Given the description of an element on the screen output the (x, y) to click on. 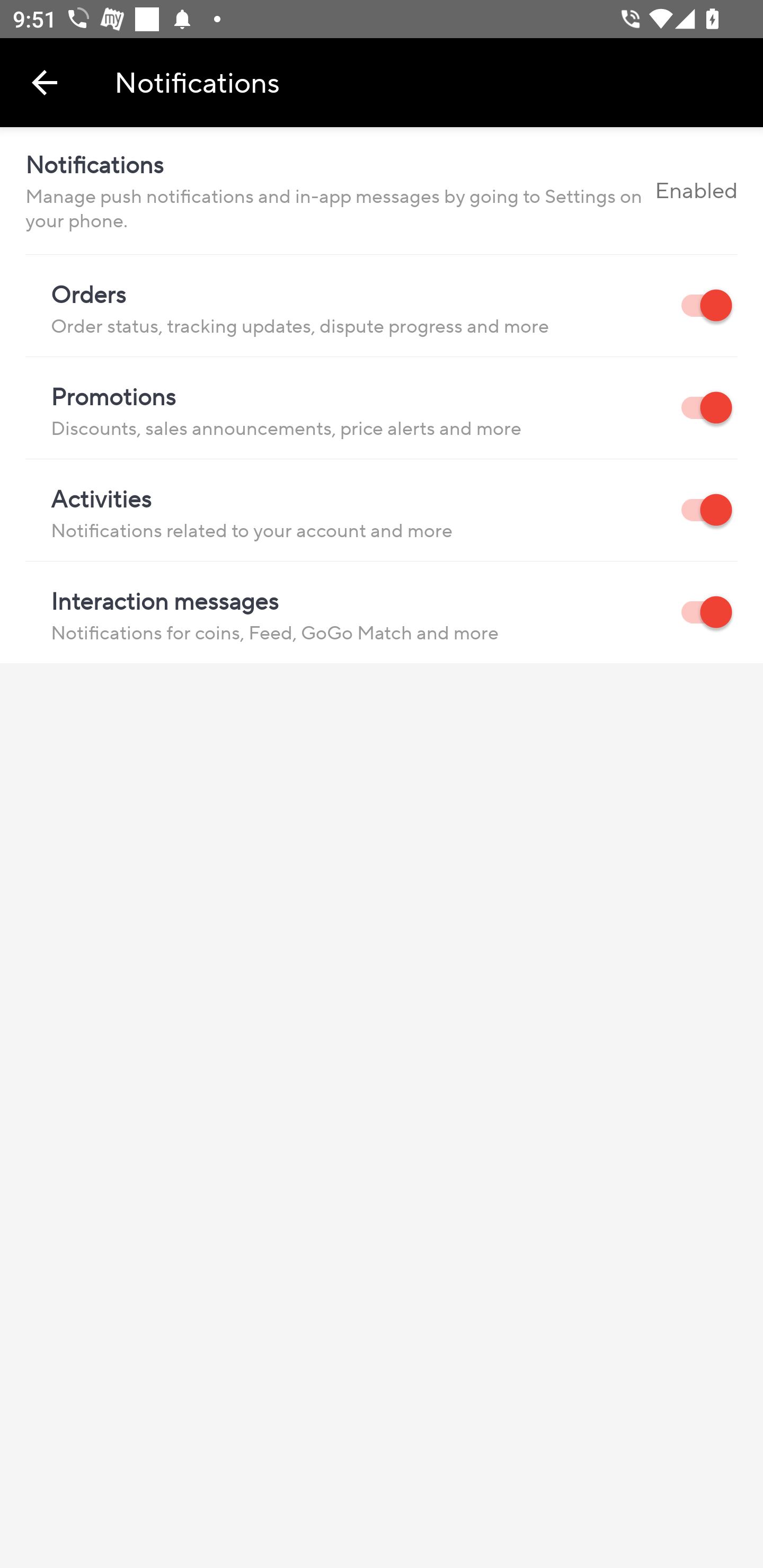
Navigate up (44, 82)
